Given the description of an element on the screen output the (x, y) to click on. 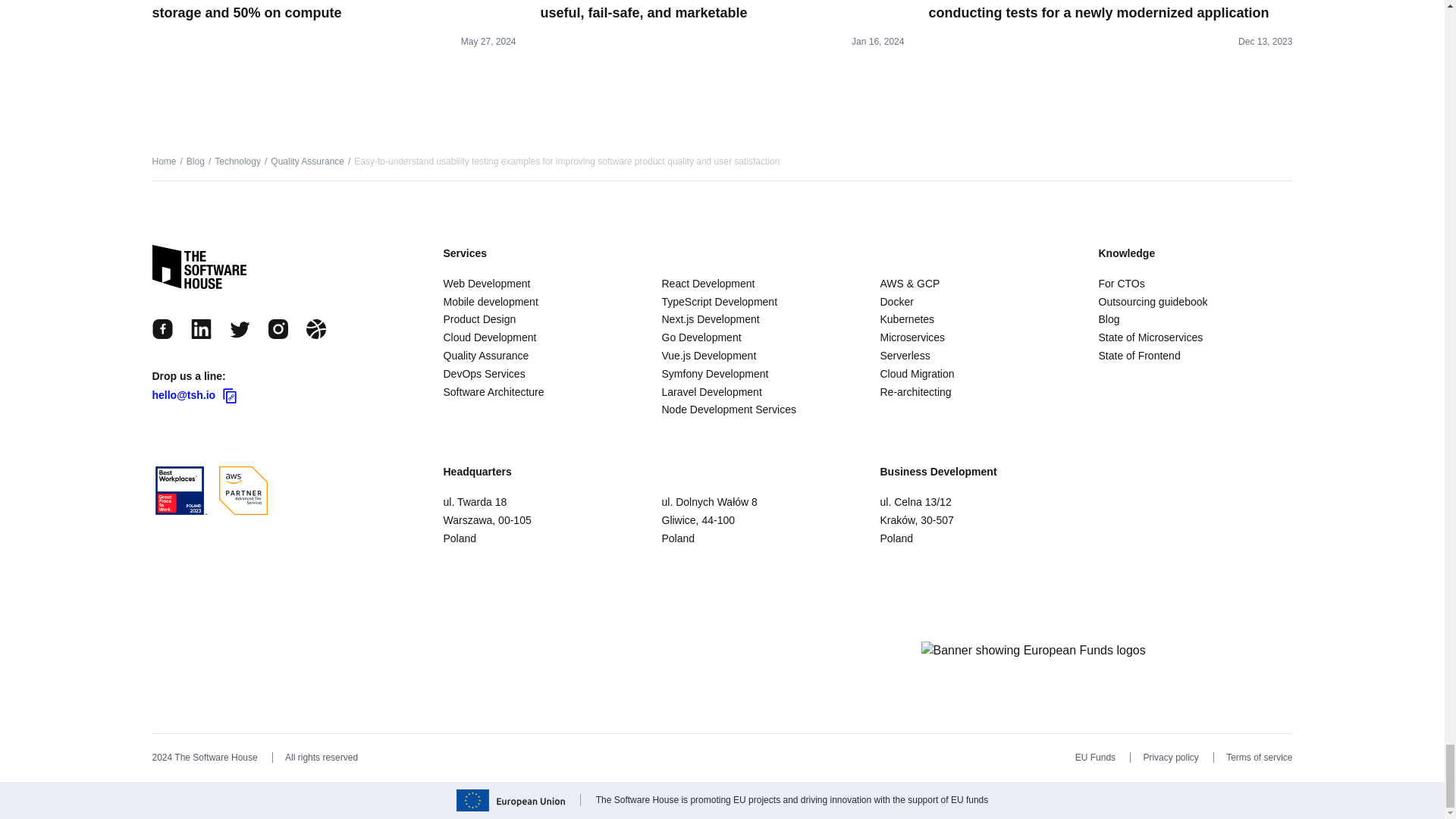
Go to Home. (163, 161)
Go to the Quality Assurance category archives. (306, 161)
Go to Blog. (195, 161)
Go to the Technology category archives. (237, 161)
